Given the description of an element on the screen output the (x, y) to click on. 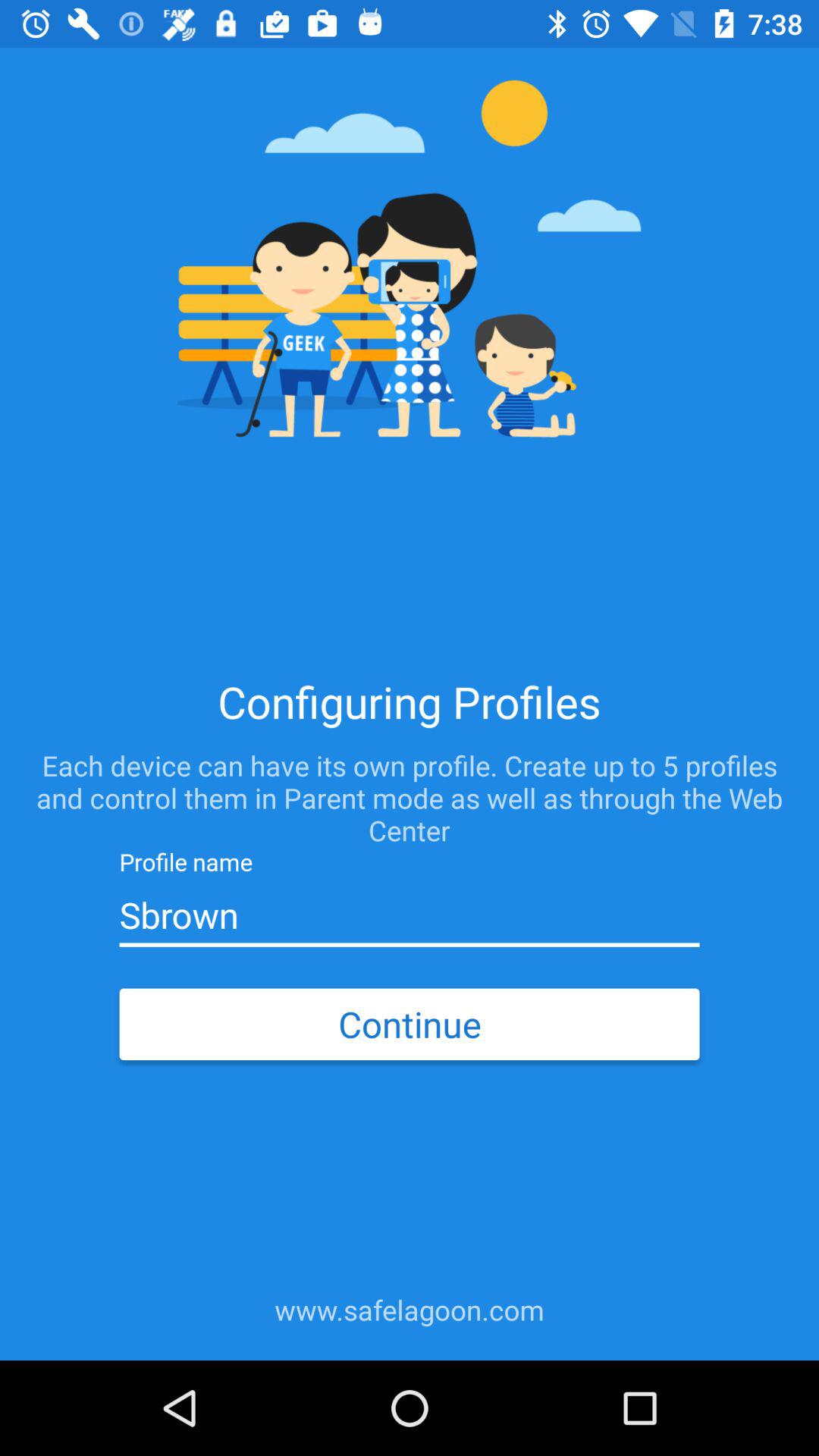
turn off item above the continue icon (409, 915)
